Given the description of an element on the screen output the (x, y) to click on. 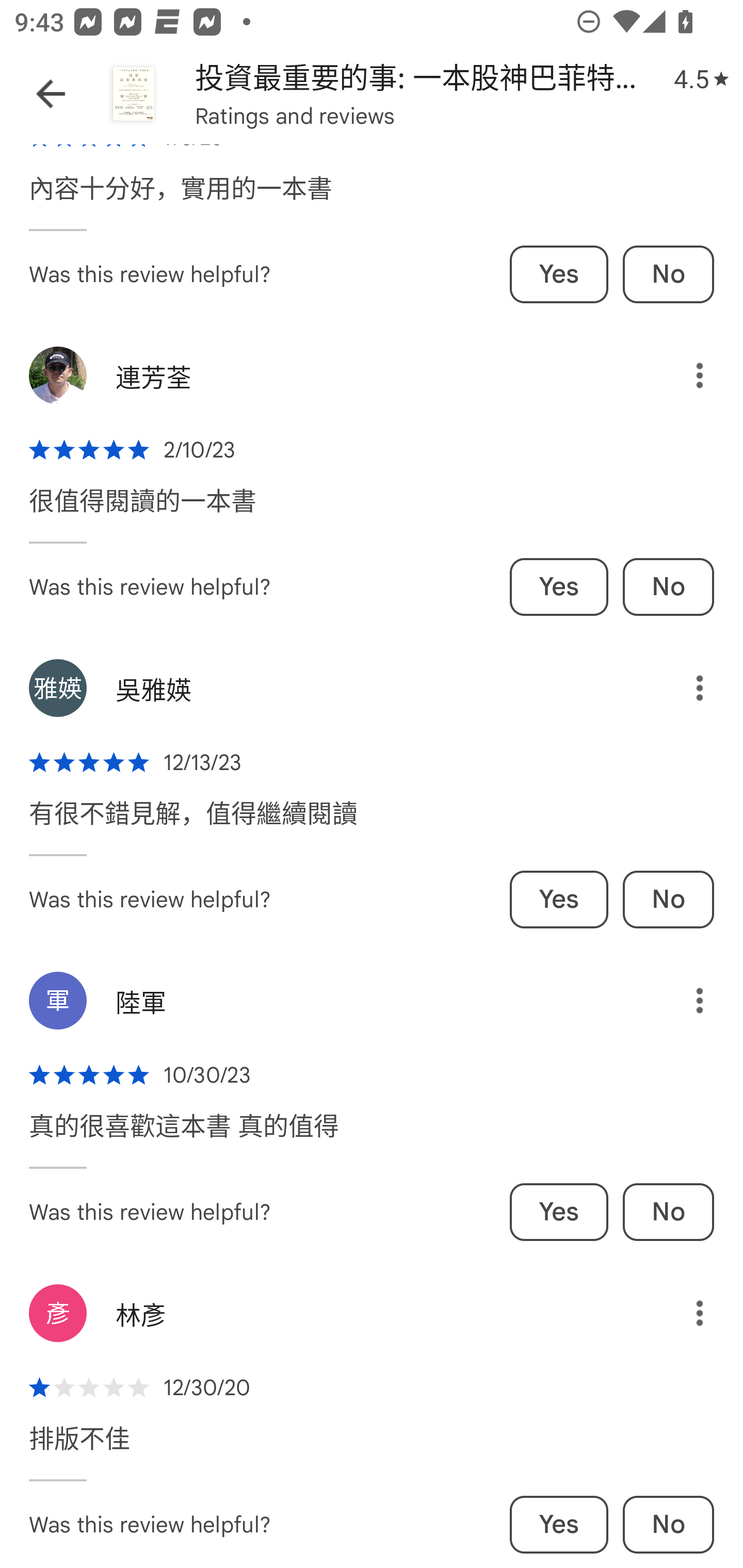
Navigate up (50, 93)
內容十分好，實用的一本書 (180, 197)
Yes (558, 274)
No (668, 274)
Options (685, 375)
很值得閱讀的一本書 (142, 510)
Yes (558, 587)
No (668, 587)
Options (685, 687)
有很不錯見解，值得繼續閱讀 (193, 823)
Yes (558, 899)
No (668, 899)
Options (685, 1001)
真的很喜歡這本書 真的值得 (183, 1135)
Yes (558, 1211)
No (668, 1211)
Options (685, 1313)
排版不佳 (79, 1448)
Yes (558, 1524)
No (668, 1524)
